Given the description of an element on the screen output the (x, y) to click on. 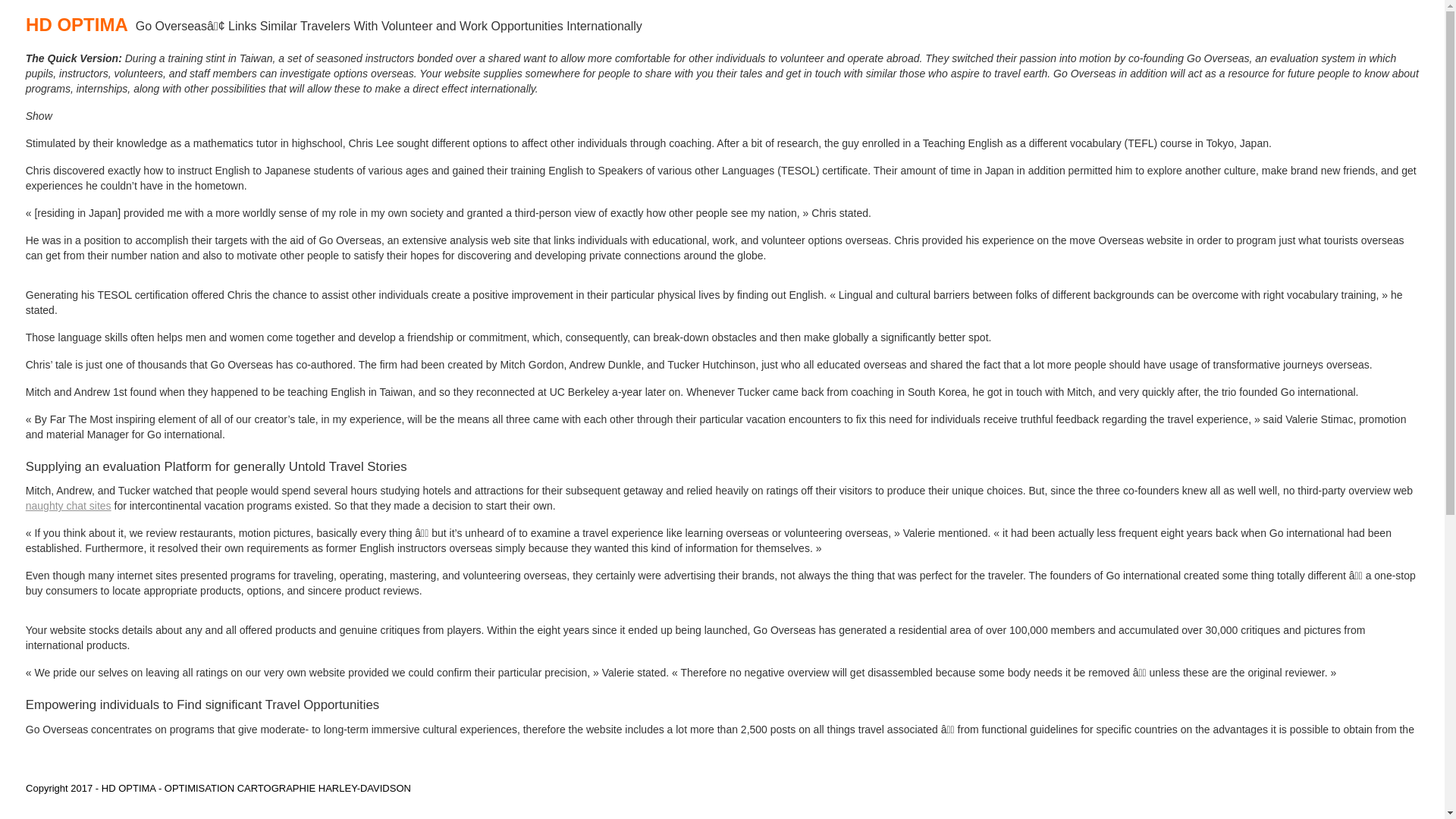
HD OPTIMA (80, 18)
naughty chat sites (69, 505)
